Given the description of an element on the screen output the (x, y) to click on. 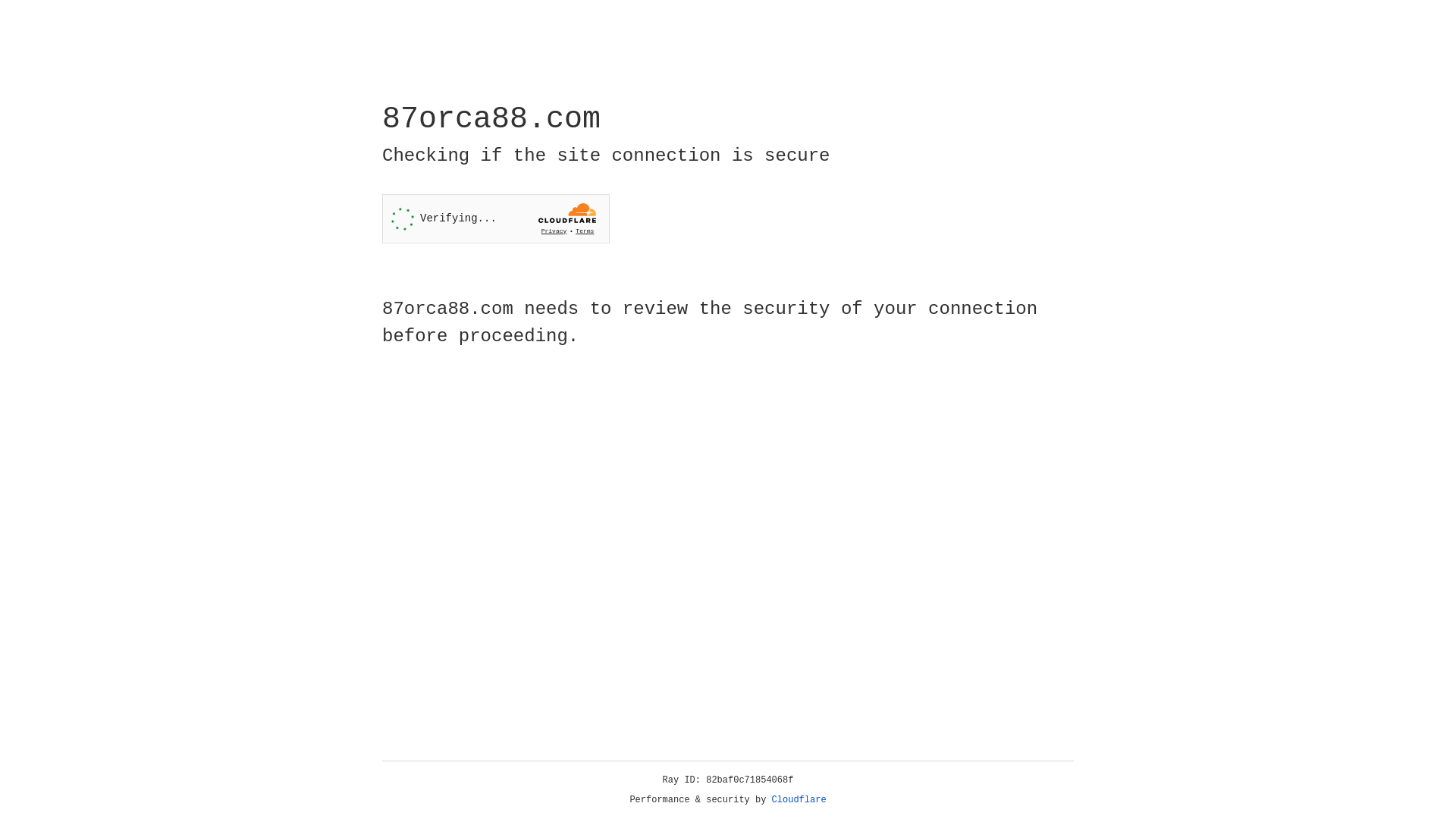
Widget containing a Cloudflare security challenge Element type: hover (495, 218)
Cloudflare Element type: text (798, 799)
